Given the description of an element on the screen output the (x, y) to click on. 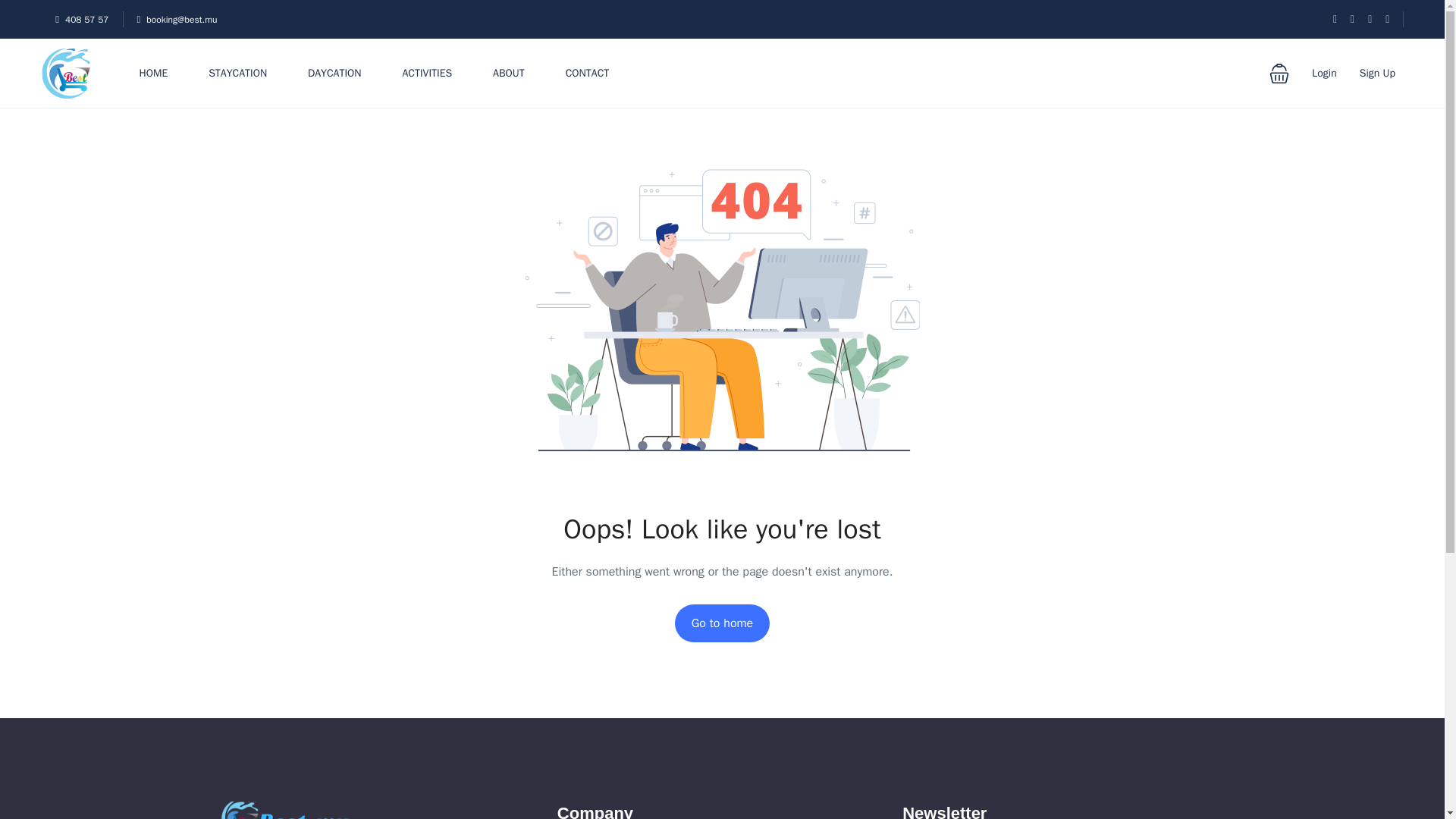
Go to home (722, 623)
ABOUT (508, 72)
HOME (153, 72)
STAYCATION (237, 72)
ACTIVITIES (426, 72)
CONTACT (587, 72)
Login (1323, 72)
DAYCATION (334, 72)
408 57 57 (81, 19)
Sign Up (1376, 72)
